Given the description of an element on the screen output the (x, y) to click on. 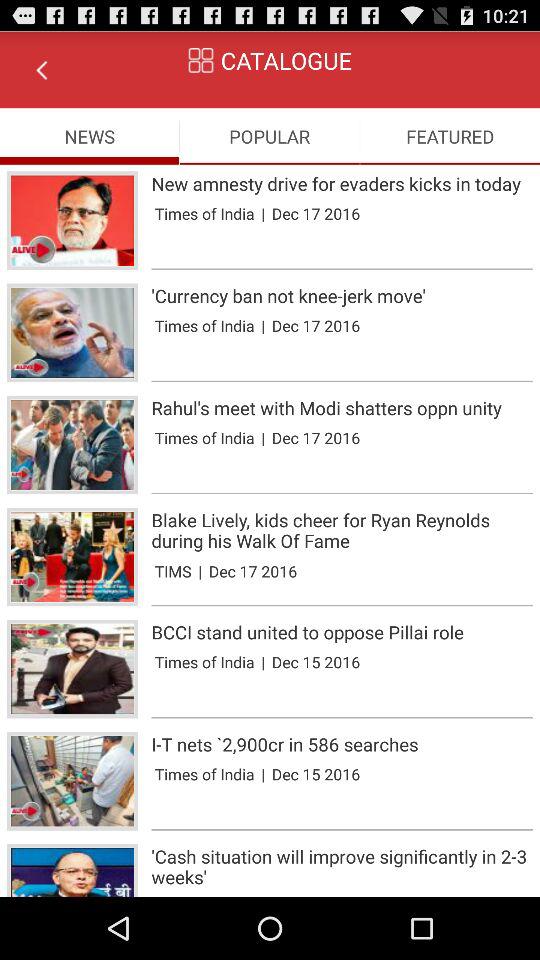
select the app below the new amnesty drive app (263, 213)
